Given the description of an element on the screen output the (x, y) to click on. 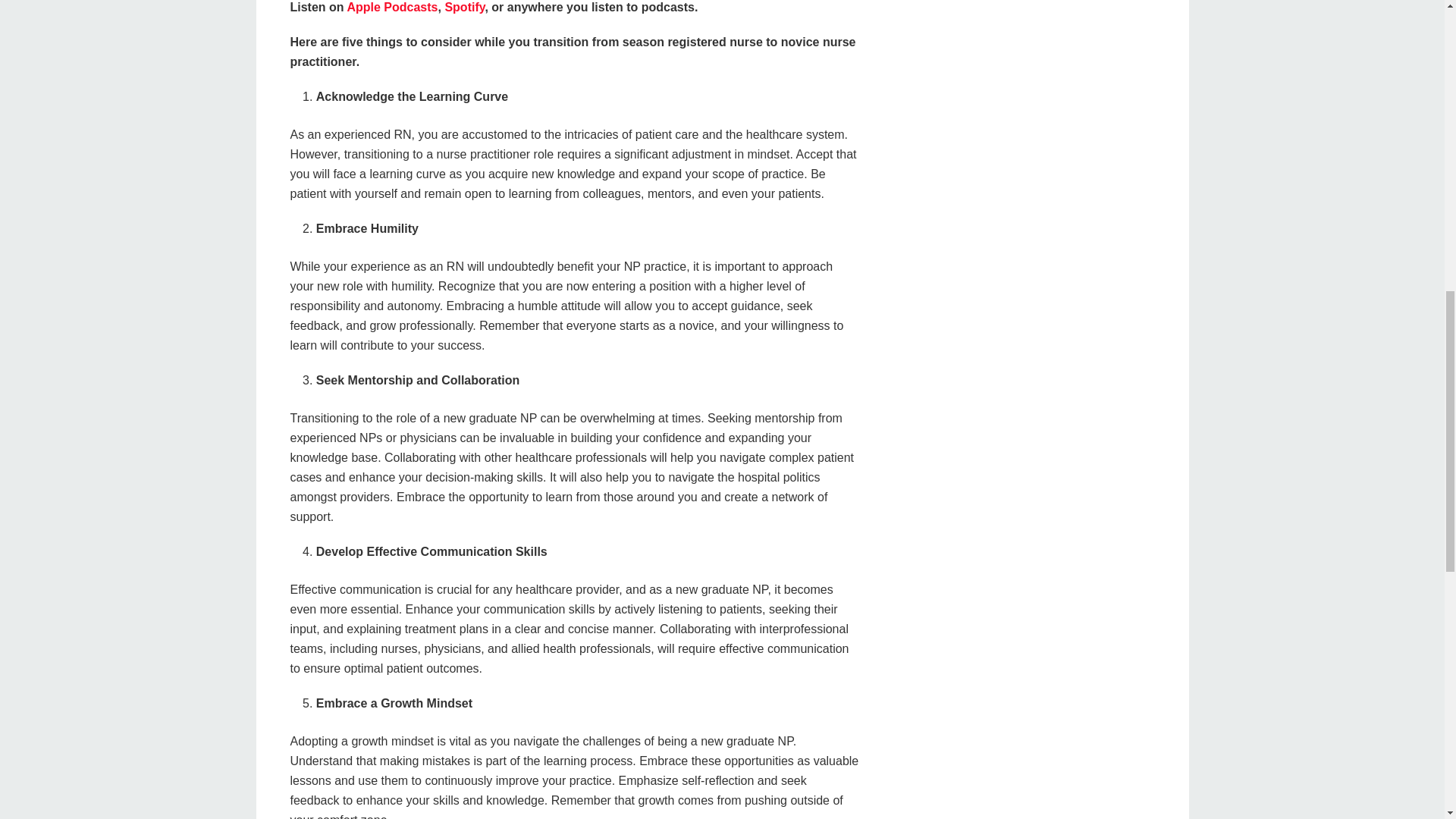
Apple Podcasts (390, 6)
Spotify (462, 6)
